Given the description of an element on the screen output the (x, y) to click on. 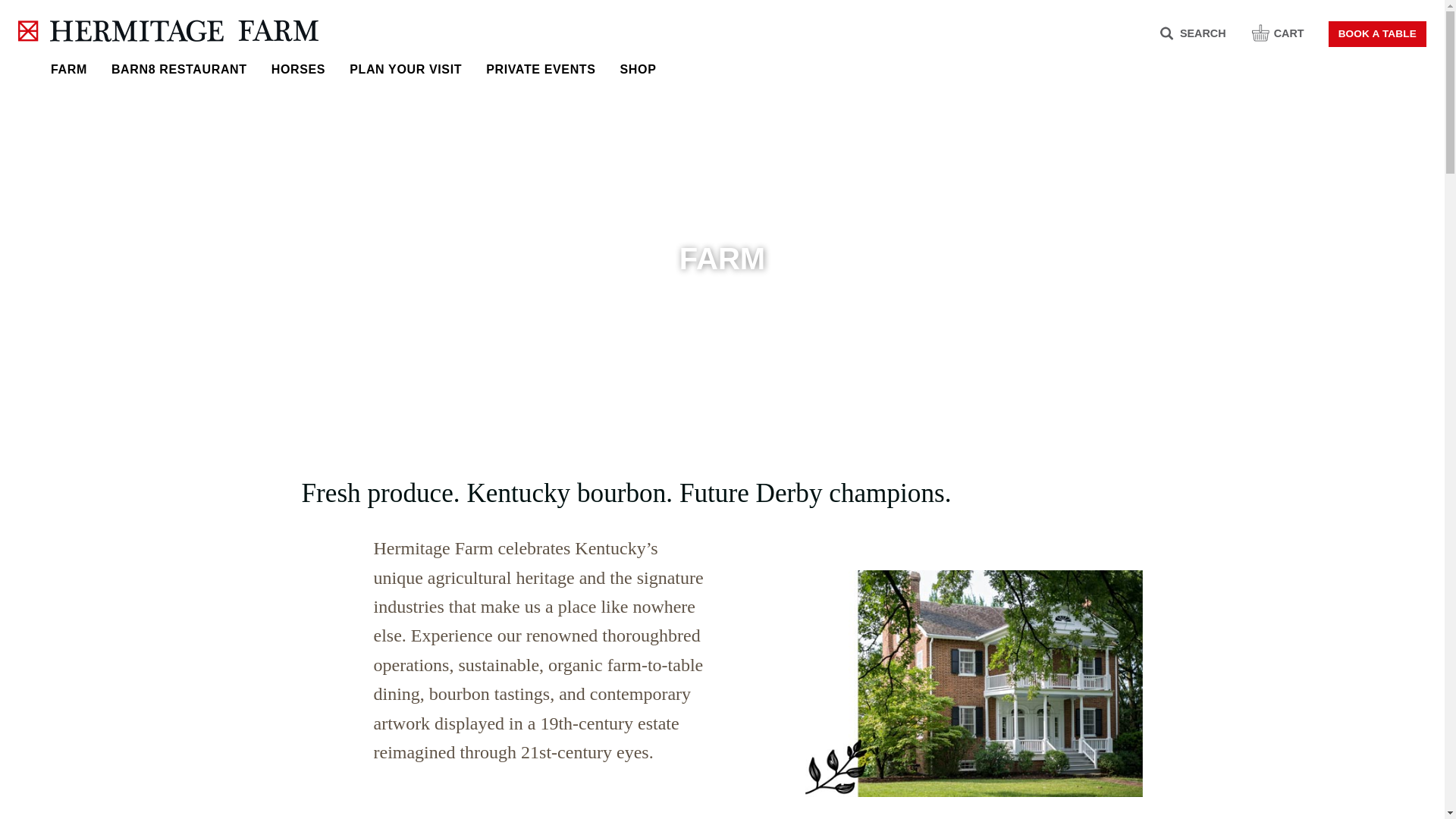
PLAN YOUR VISIT (405, 68)
PRIVATE EVENTS (540, 68)
HORSES (298, 68)
FARM (69, 68)
Horses (298, 68)
BARN8 RESTAURANT (179, 68)
Barn8 Restaurant (179, 68)
Plan Your Visit (405, 68)
Farm (69, 68)
